Given the description of an element on the screen output the (x, y) to click on. 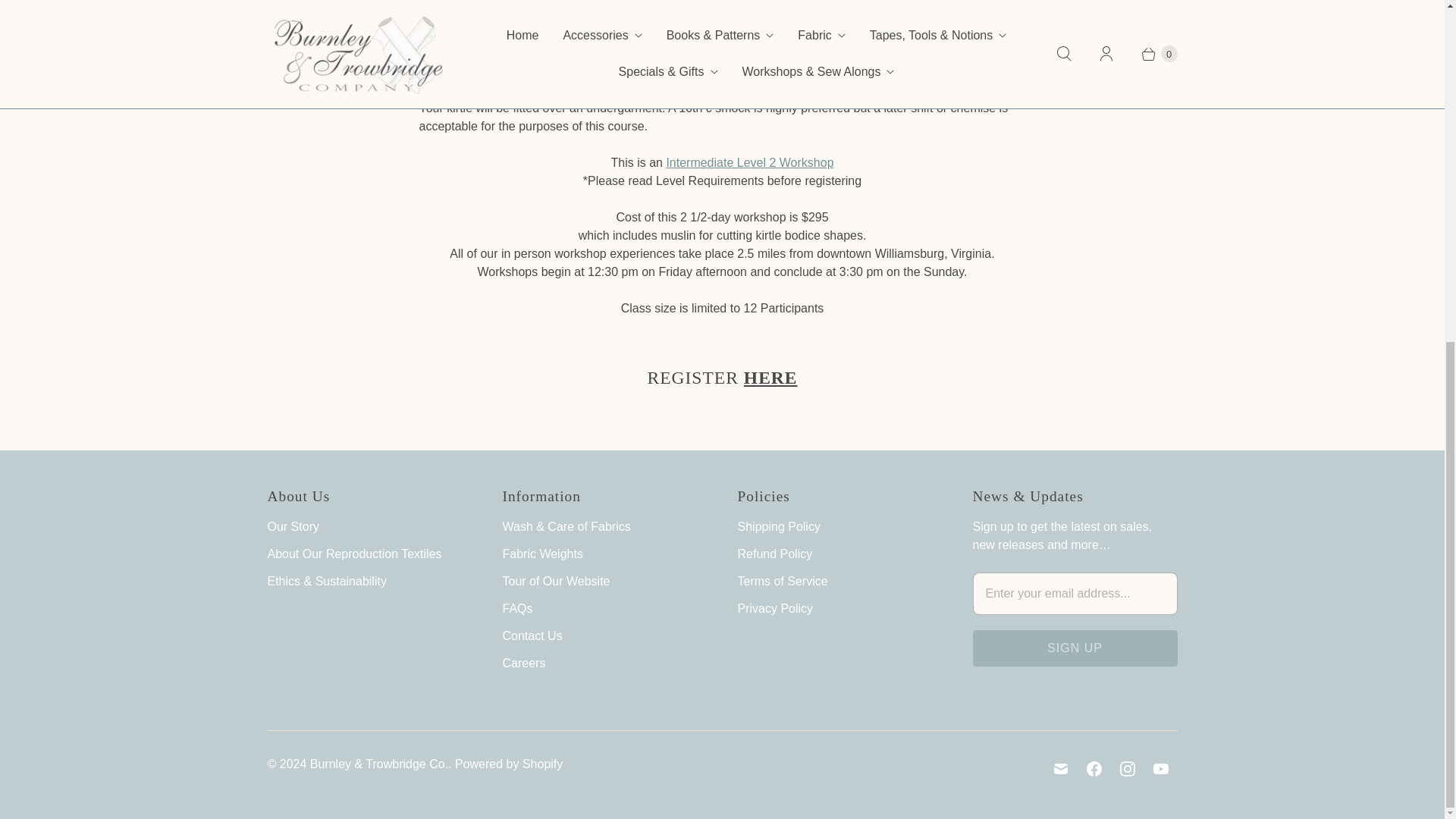
Sign Up (1074, 647)
